Given the description of an element on the screen output the (x, y) to click on. 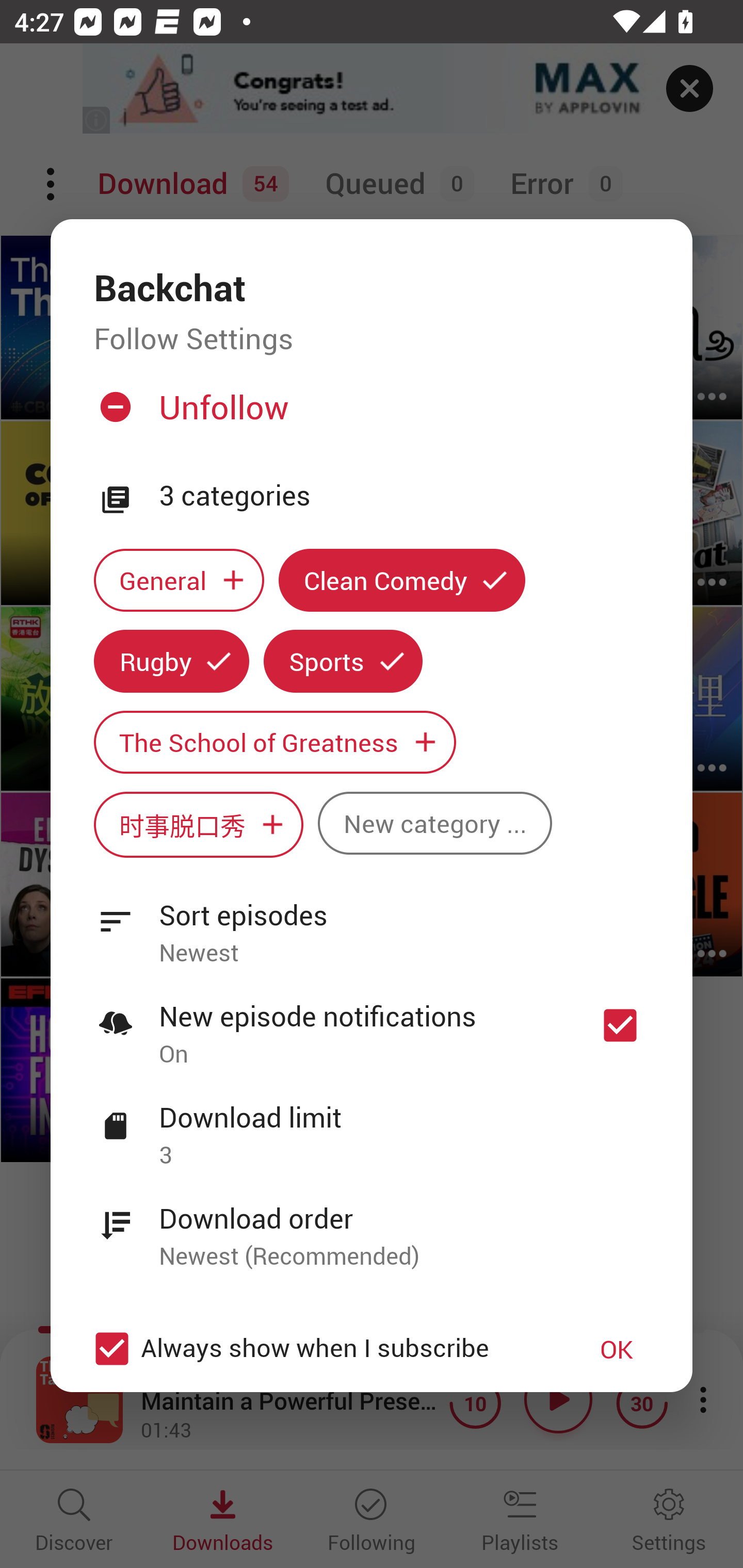
Unfollow (369, 415)
3 categories (404, 495)
General (178, 579)
Clean Comedy (401, 579)
Rugby (170, 661)
Sports (342, 661)
The School of Greatness (274, 741)
时事脱口秀 (198, 824)
New category ... (435, 822)
Sort episodes Newest (371, 922)
New episode notifications (620, 1025)
Download limit 3 (371, 1125)
Download order Newest (Recommended) (371, 1226)
OK (616, 1349)
Always show when I subscribe (320, 1349)
